Given the description of an element on the screen output the (x, y) to click on. 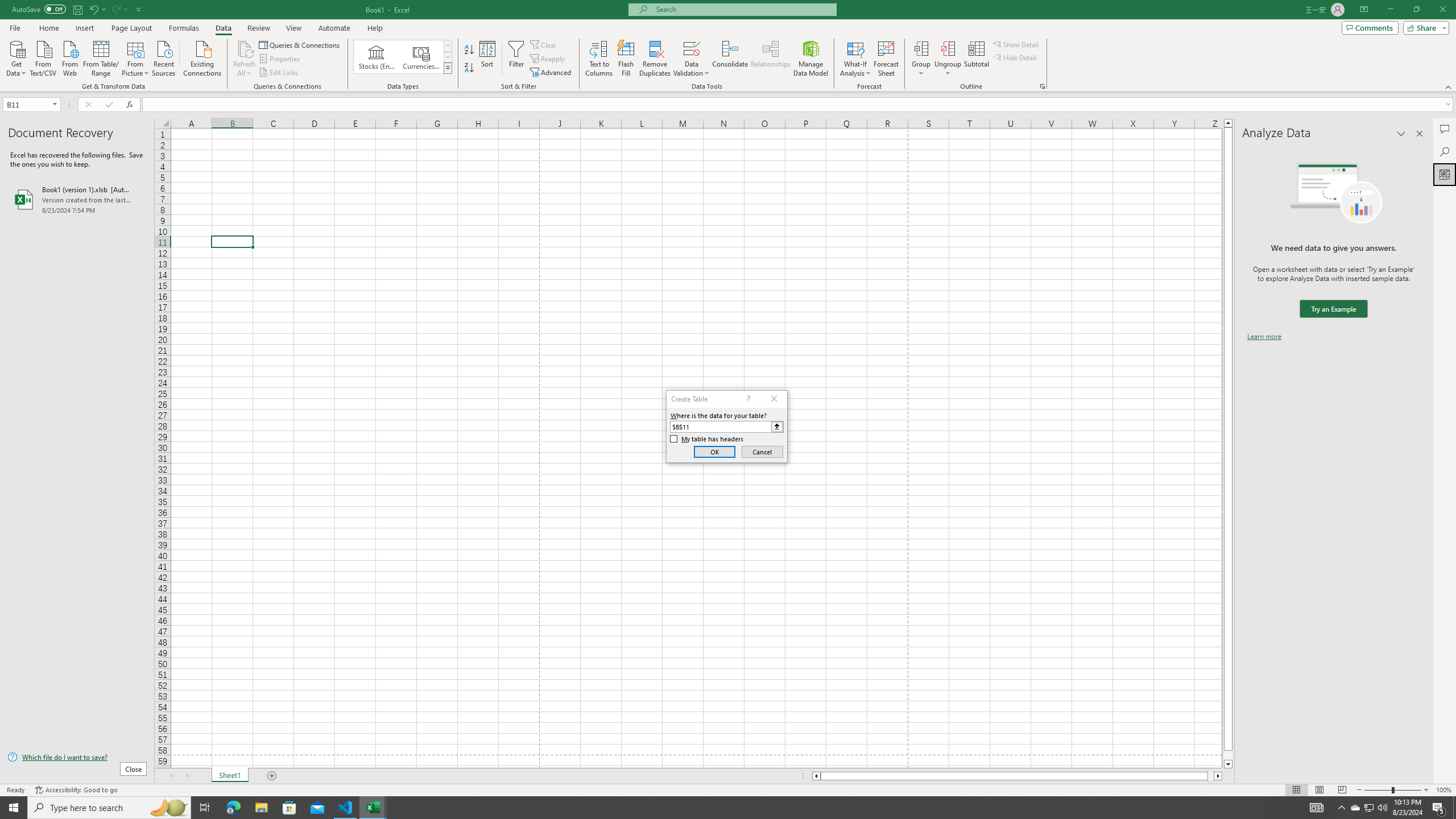
Comments (1369, 27)
Microsoft search (742, 9)
Hide Detail (1014, 56)
Sort Z to A (469, 67)
AutoSave (38, 9)
Flash Fill (625, 58)
We need data to give you answers. Try an Example (1333, 308)
AutomationID: ConvertToLinkedEntity (403, 56)
Show Detail (1016, 44)
Get Data (16, 57)
Class: NetUIScrollBar (1016, 775)
Formula Bar (799, 104)
Which file do I want to save? (77, 757)
Review (258, 28)
System (6, 6)
